Given the description of an element on the screen output the (x, y) to click on. 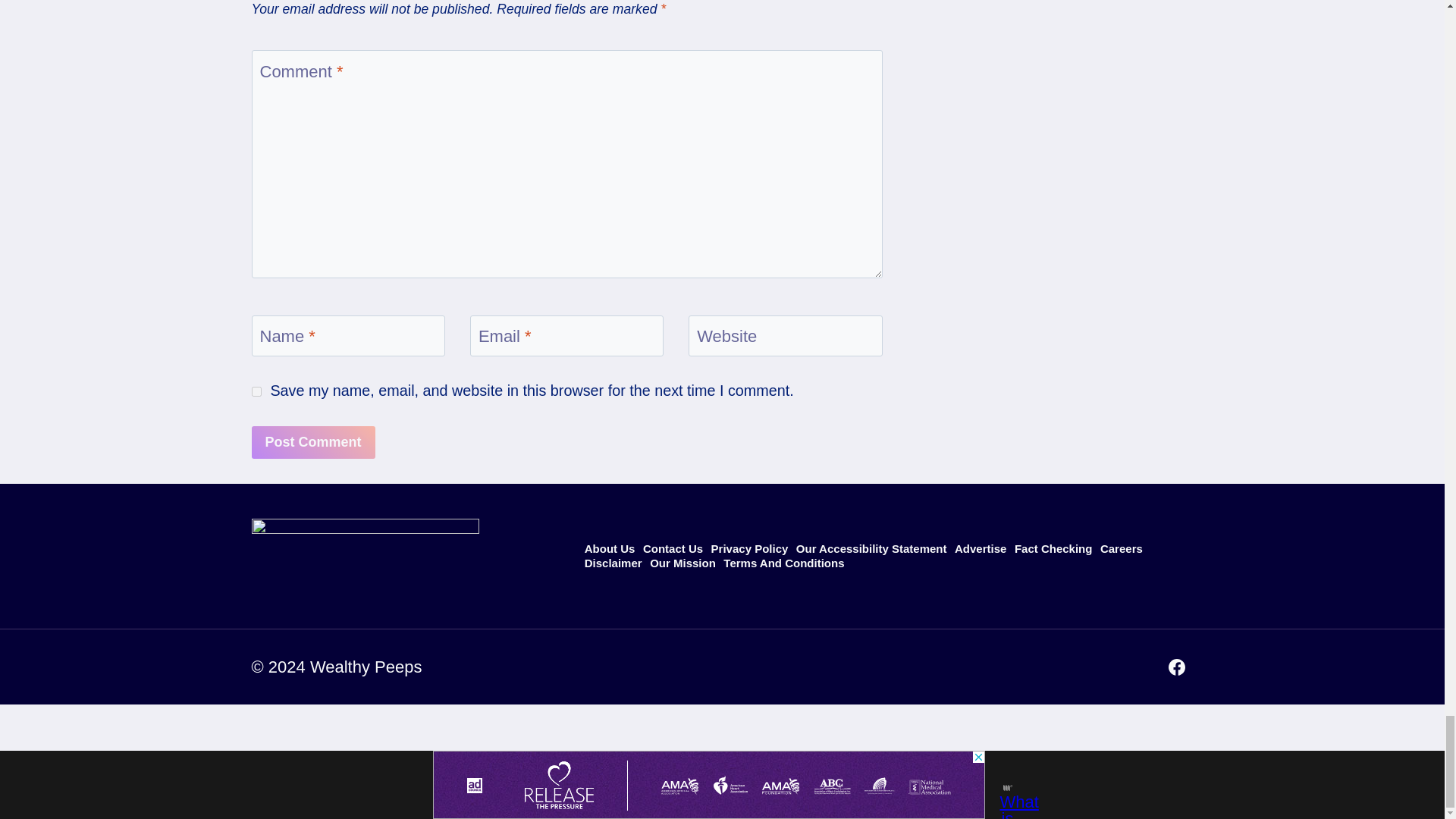
Post Comment (313, 441)
yes (256, 391)
